Given the description of an element on the screen output the (x, y) to click on. 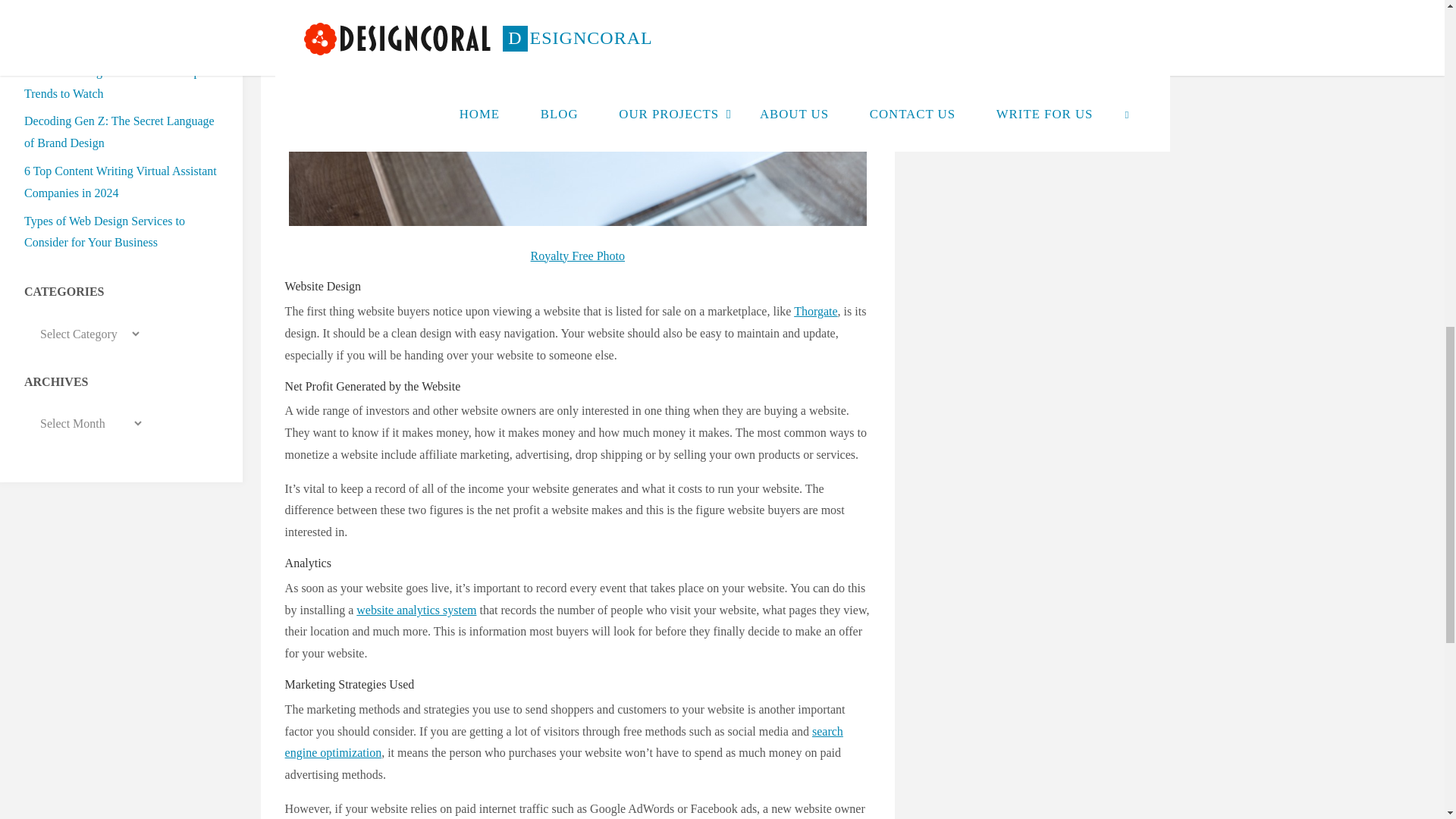
Royalty Free Photo (577, 255)
search engine optimization (564, 742)
Thorgate (815, 310)
website analytics system (416, 609)
